Given the description of an element on the screen output the (x, y) to click on. 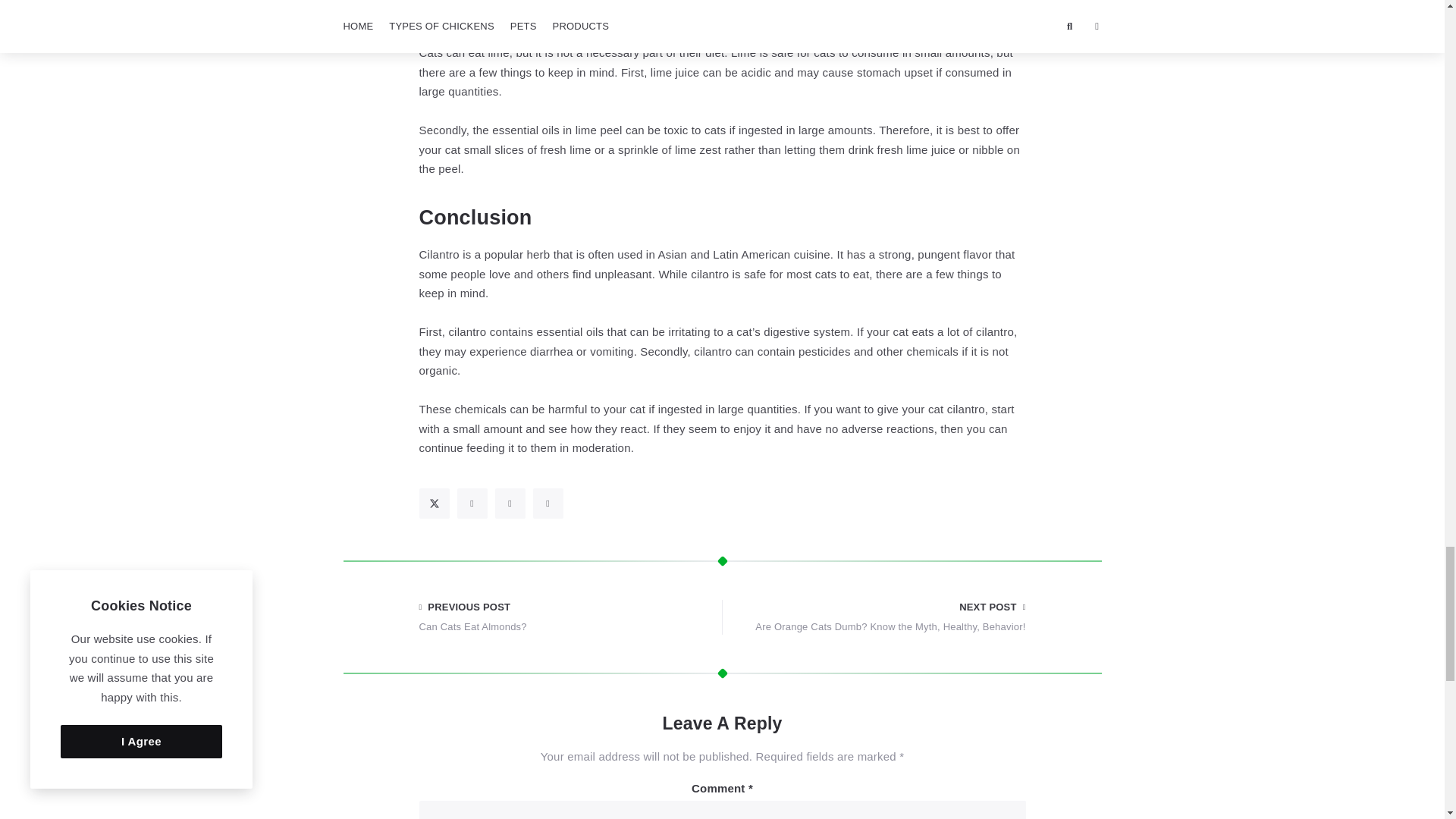
Share on Twitter X (433, 503)
Share on Reddit (547, 503)
Share on Facebook (471, 503)
Share on Pinterest (509, 503)
